Given the description of an element on the screen output the (x, y) to click on. 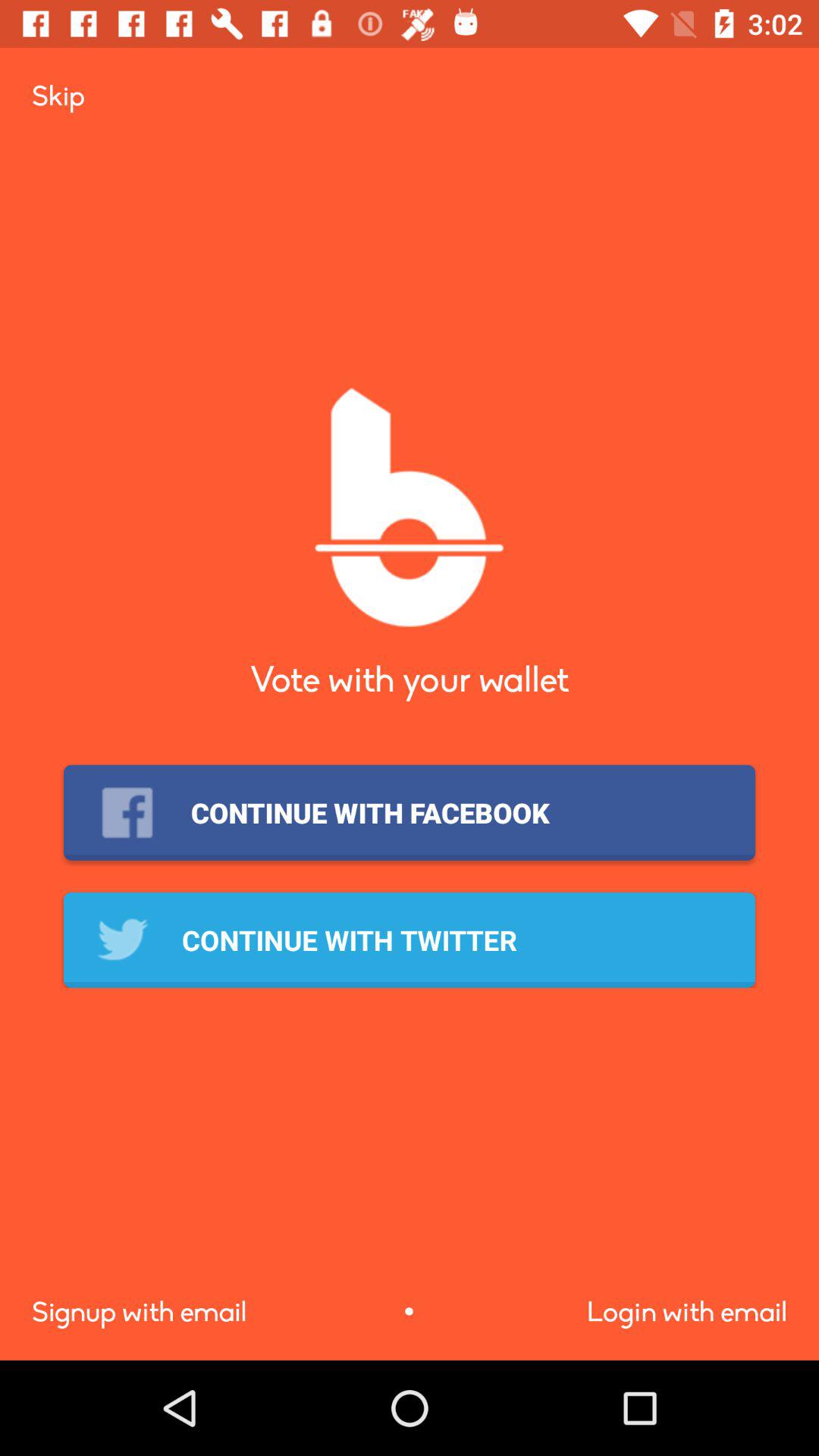
jump to the skip icon (58, 95)
